Given the description of an element on the screen output the (x, y) to click on. 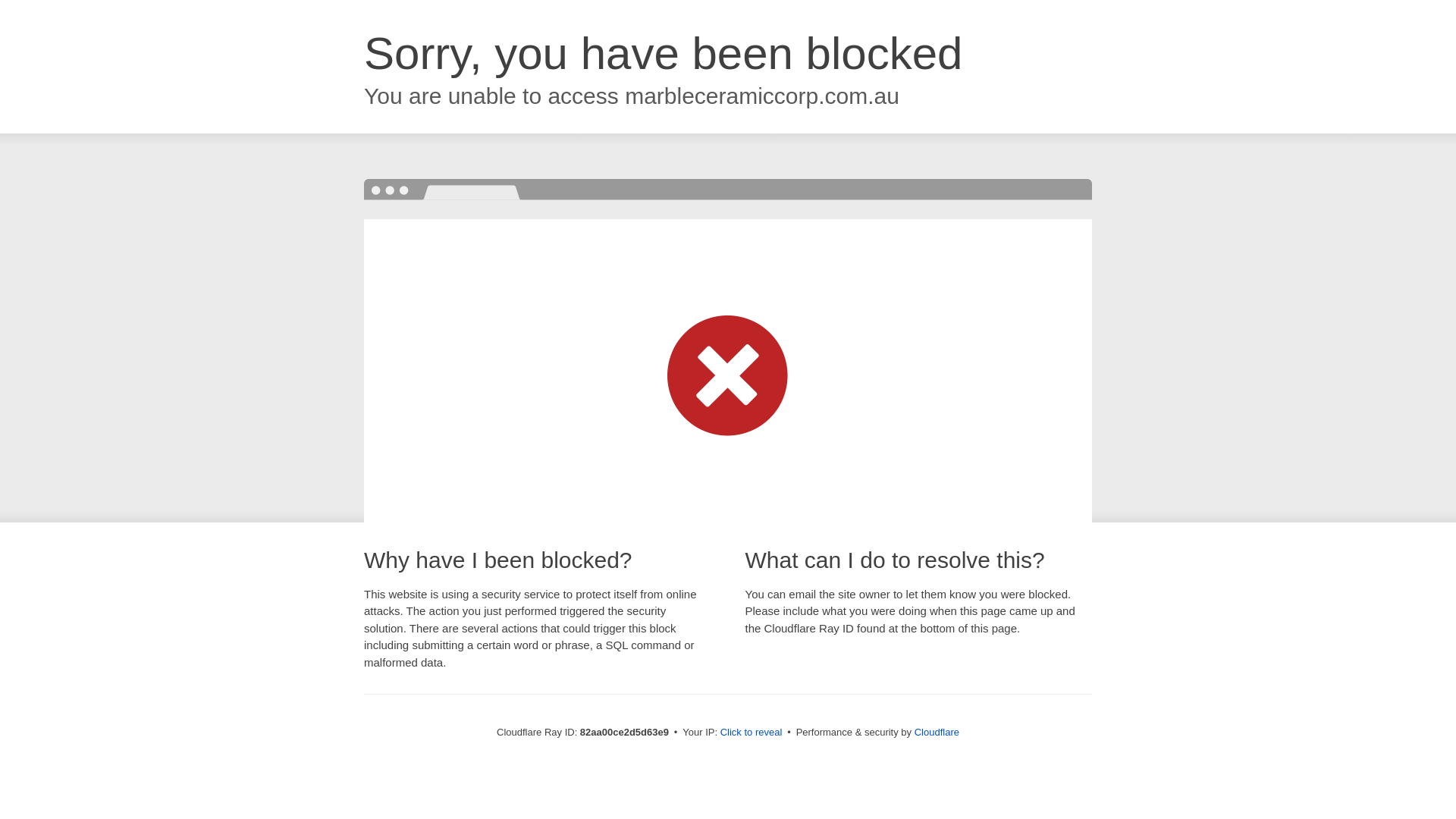
Click to reveal Element type: text (751, 732)
Cloudflare Element type: text (936, 731)
